Given the description of an element on the screen output the (x, y) to click on. 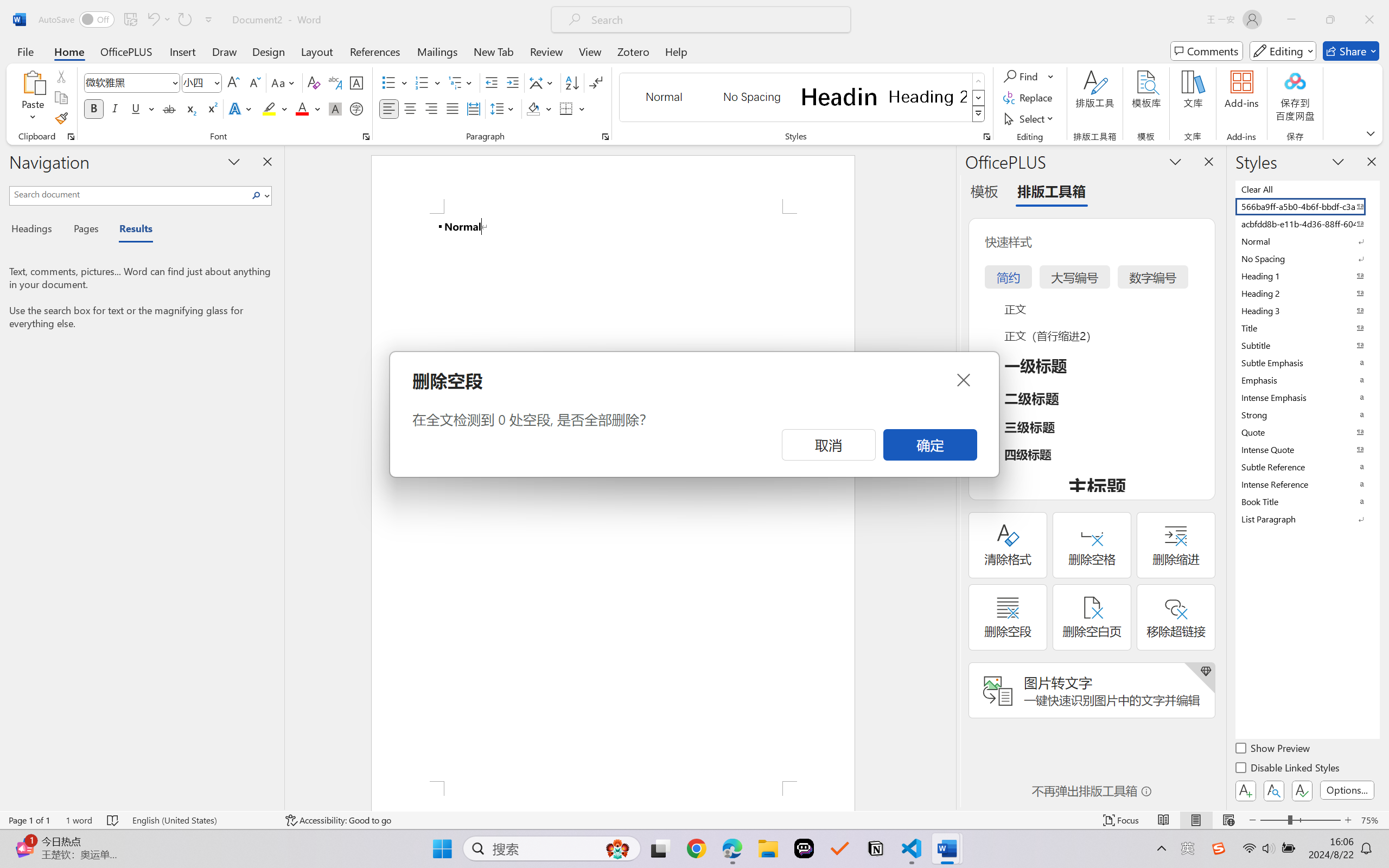
Grow Font (233, 82)
Undo <ApplyStyleToDoc>b__0 (158, 19)
Search (259, 195)
Text Highlight Color (274, 108)
AutomationID: BadgeAnchorLargeTicker (24, 836)
Bullets (388, 82)
Row up (978, 81)
Office Clipboard... (70, 136)
Quick Access Toolbar (127, 19)
